Given the description of an element on the screen output the (x, y) to click on. 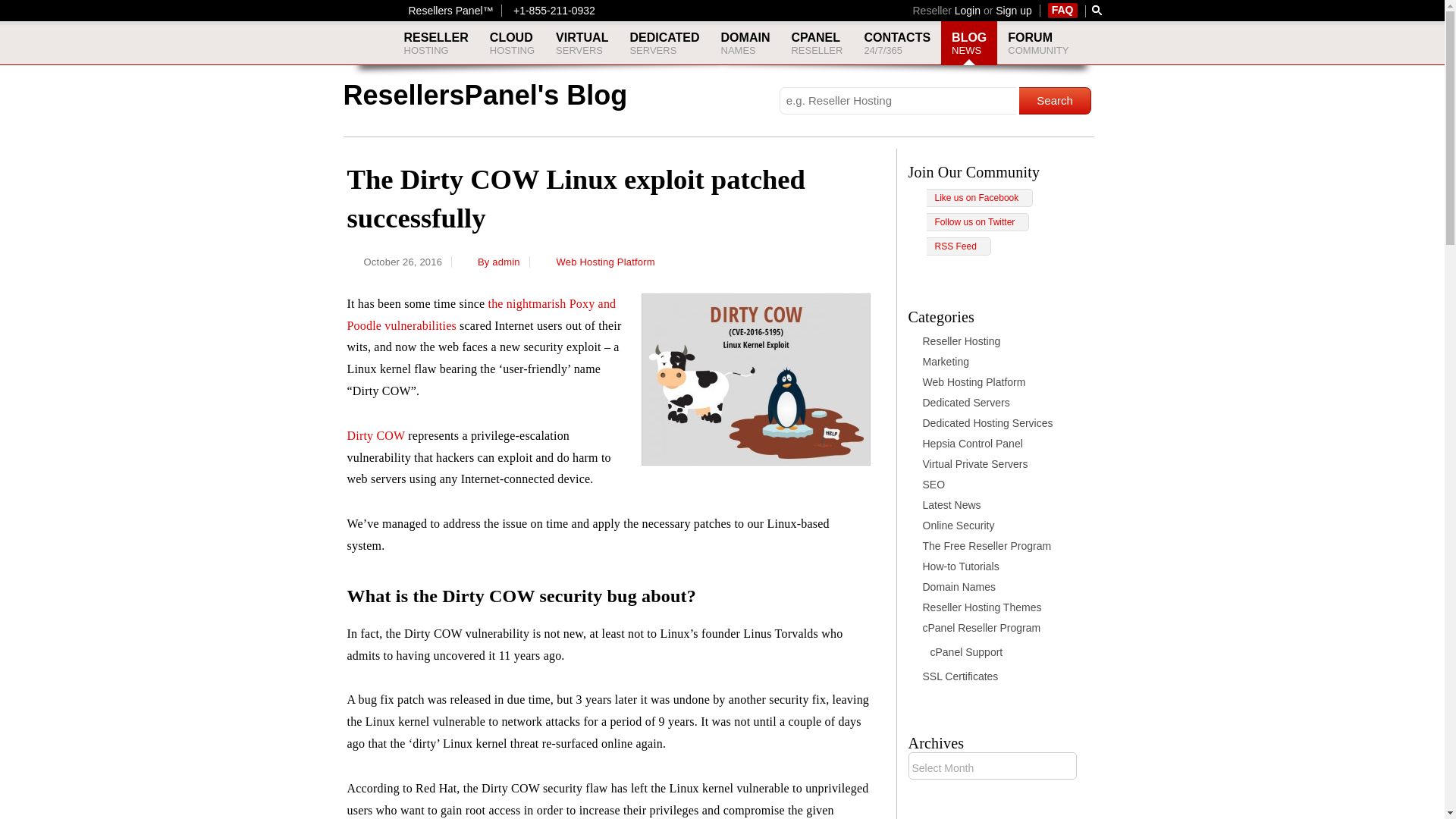
cPanel Reseller Plans (745, 43)
Search (816, 43)
Resellers Panel home page (1097, 9)
FAQ (450, 10)
Reseller Hosting (581, 43)
Sign up (1062, 9)
Virtual Private Servers (436, 43)
Reseller Log In (1012, 10)
Our Forum (816, 43)
Domain Names (581, 43)
the nightmarish Poxy and Poodle vulnerabilities (511, 43)
